Given the description of an element on the screen output the (x, y) to click on. 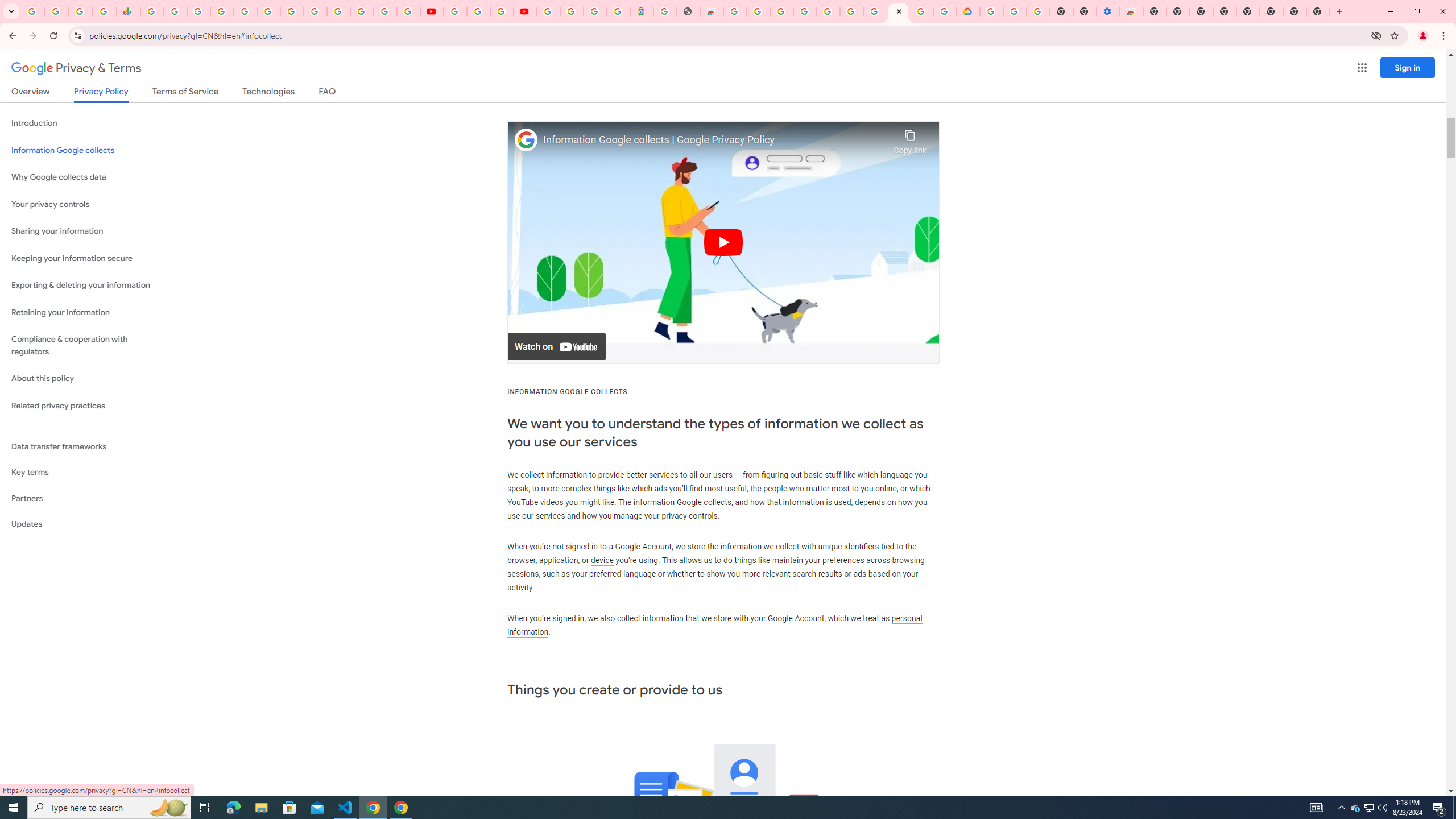
Play (723, 242)
Partners (86, 497)
Google Account Help (478, 11)
Android TV Policies and Guidelines - Transparency Center (291, 11)
Google Account Help (874, 11)
